Given the description of an element on the screen output the (x, y) to click on. 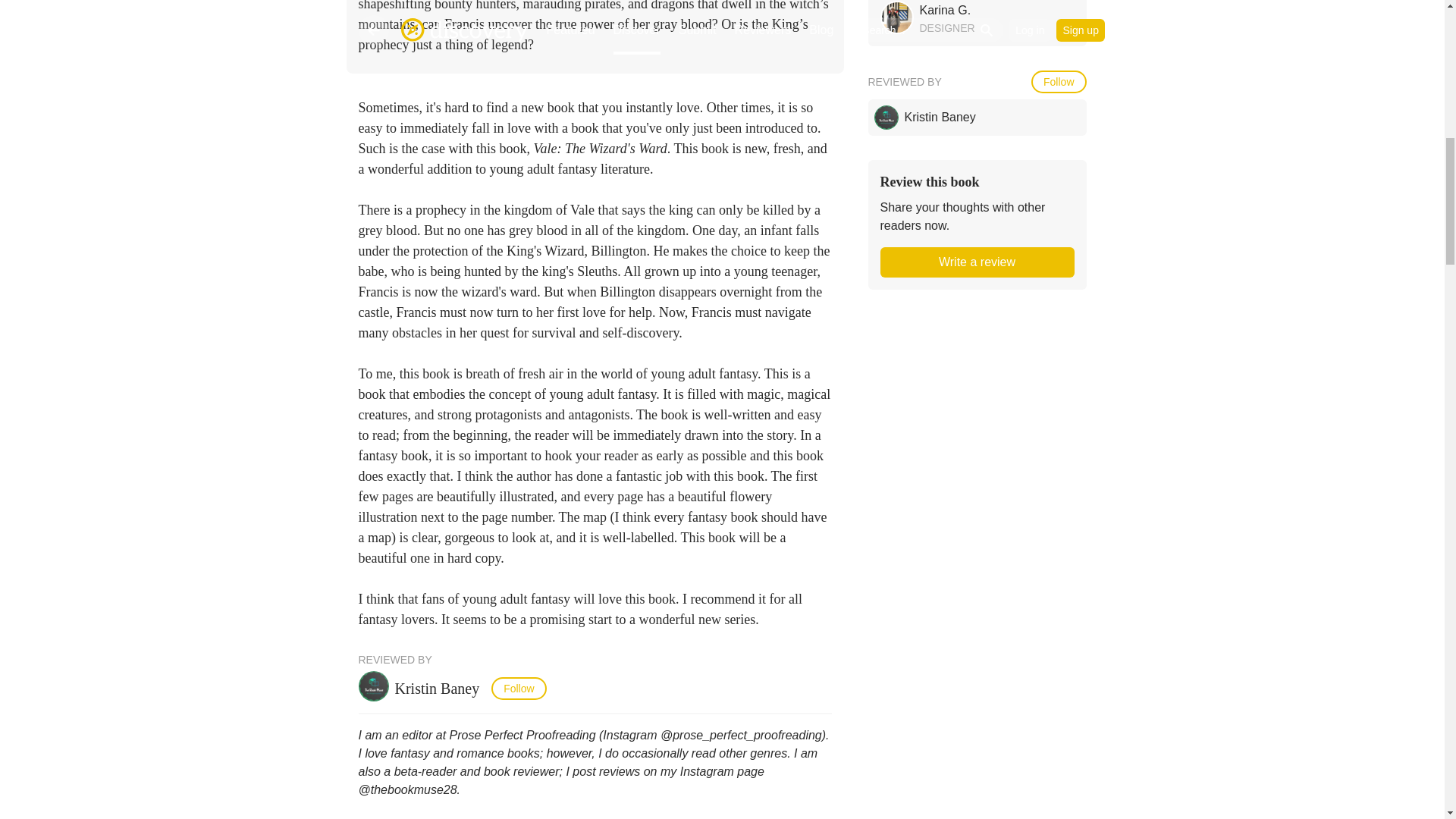
Kristin Baney (439, 689)
Follow (519, 688)
